Given the description of an element on the screen output the (x, y) to click on. 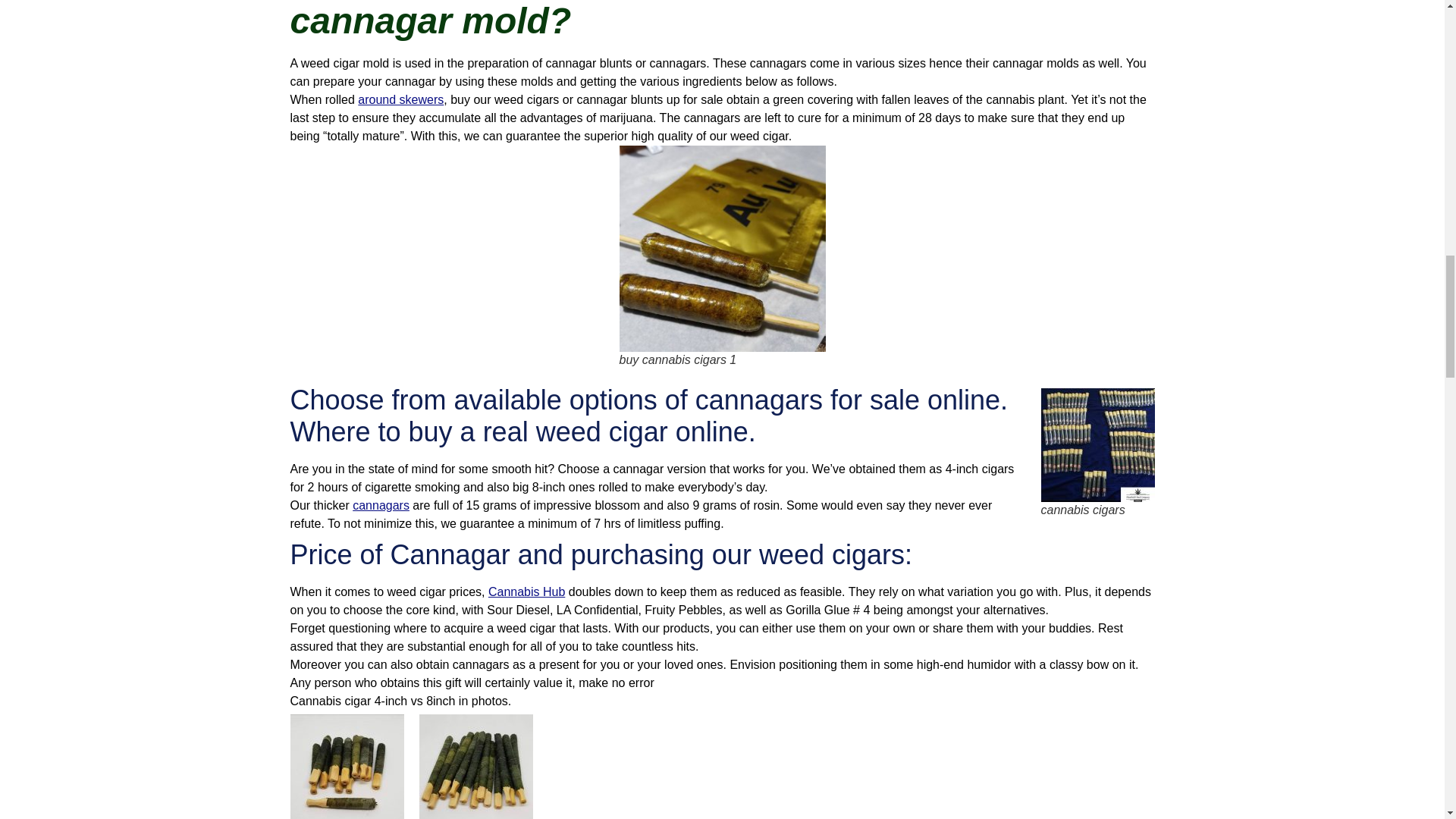
canagars online (346, 766)
canagar (1097, 445)
marijuana cigar (721, 248)
cannagars for sale (475, 766)
